Given the description of an element on the screen output the (x, y) to click on. 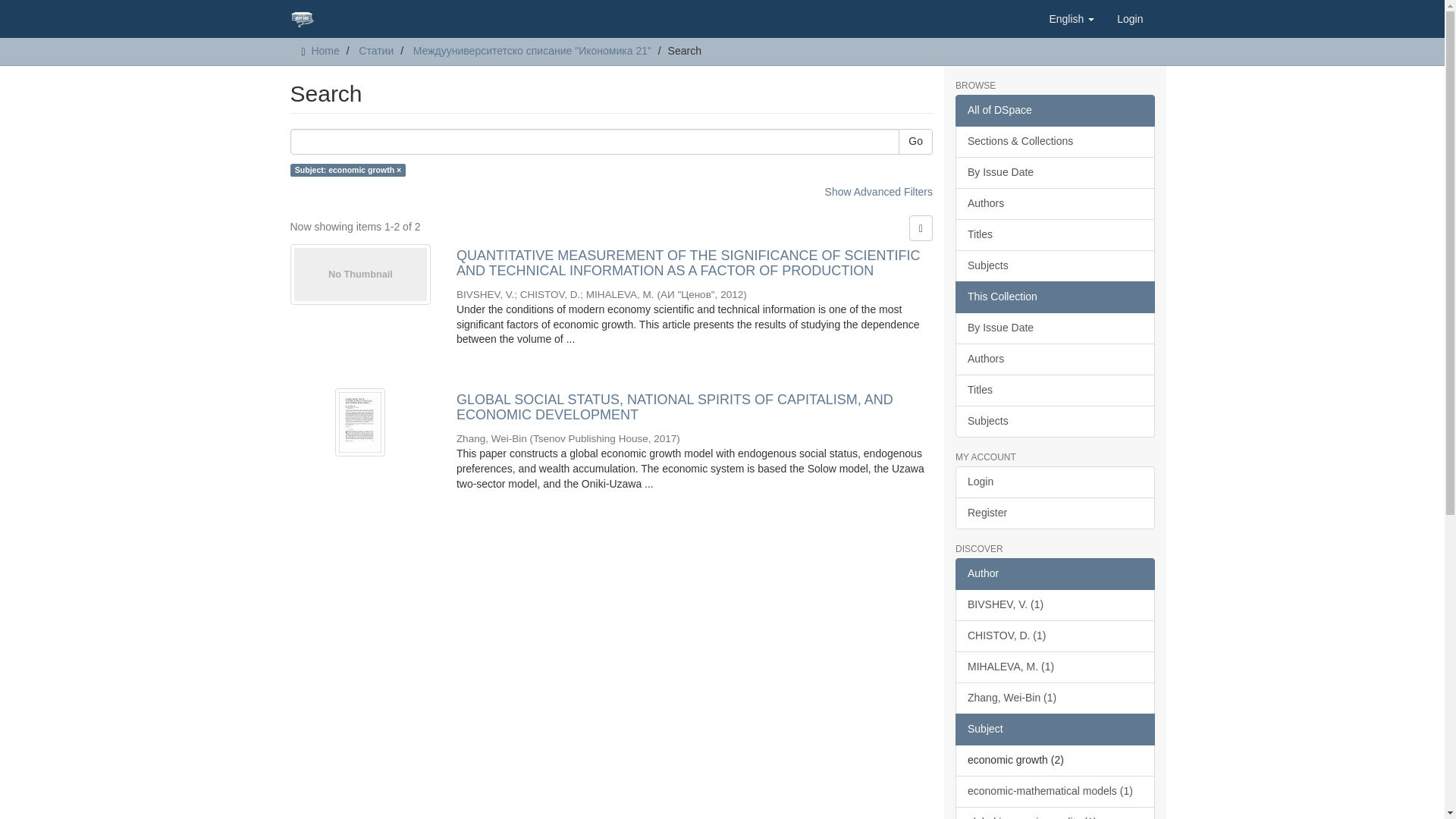
English  (1070, 18)
Login (1129, 18)
Home (325, 50)
Show Advanced Filters (879, 191)
Go (915, 141)
